Given the description of an element on the screen output the (x, y) to click on. 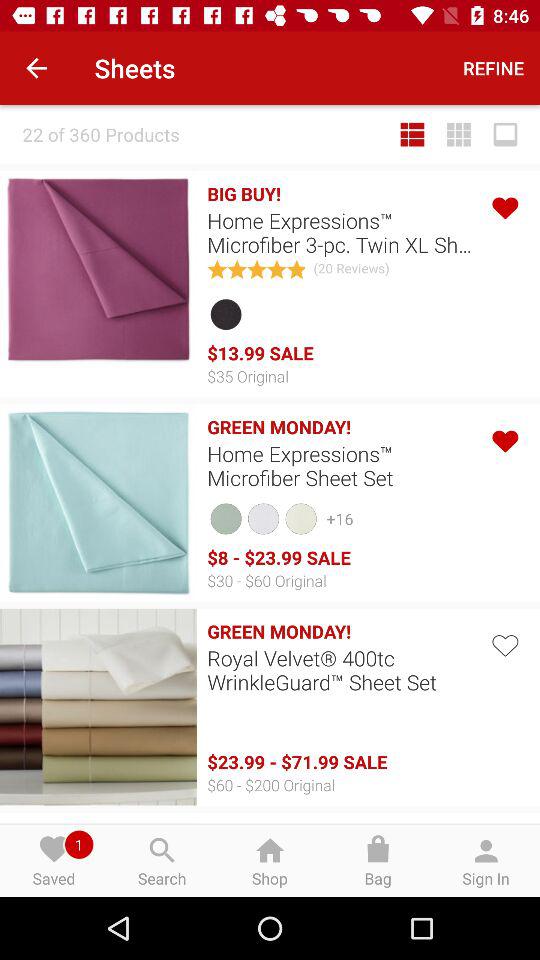
love button (504, 643)
